Given the description of an element on the screen output the (x, y) to click on. 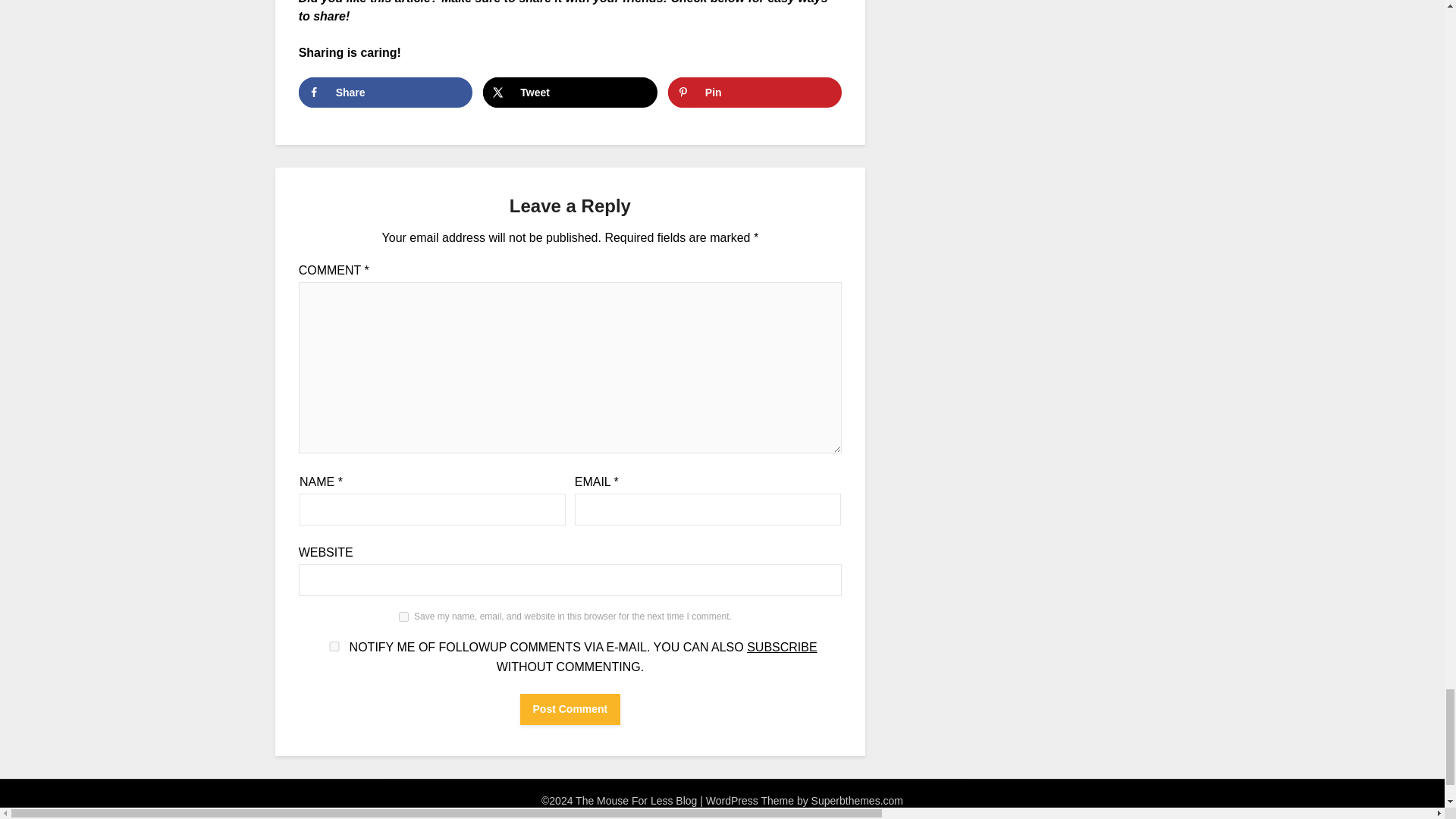
Share on X (569, 91)
SUBSCRIBE (781, 646)
Share (384, 91)
Share on Facebook (384, 91)
Post Comment (570, 708)
Pin (754, 91)
Tweet (569, 91)
Post Comment (570, 708)
yes (334, 646)
Save to Pinterest (754, 91)
yes (403, 616)
